Given the description of an element on the screen output the (x, y) to click on. 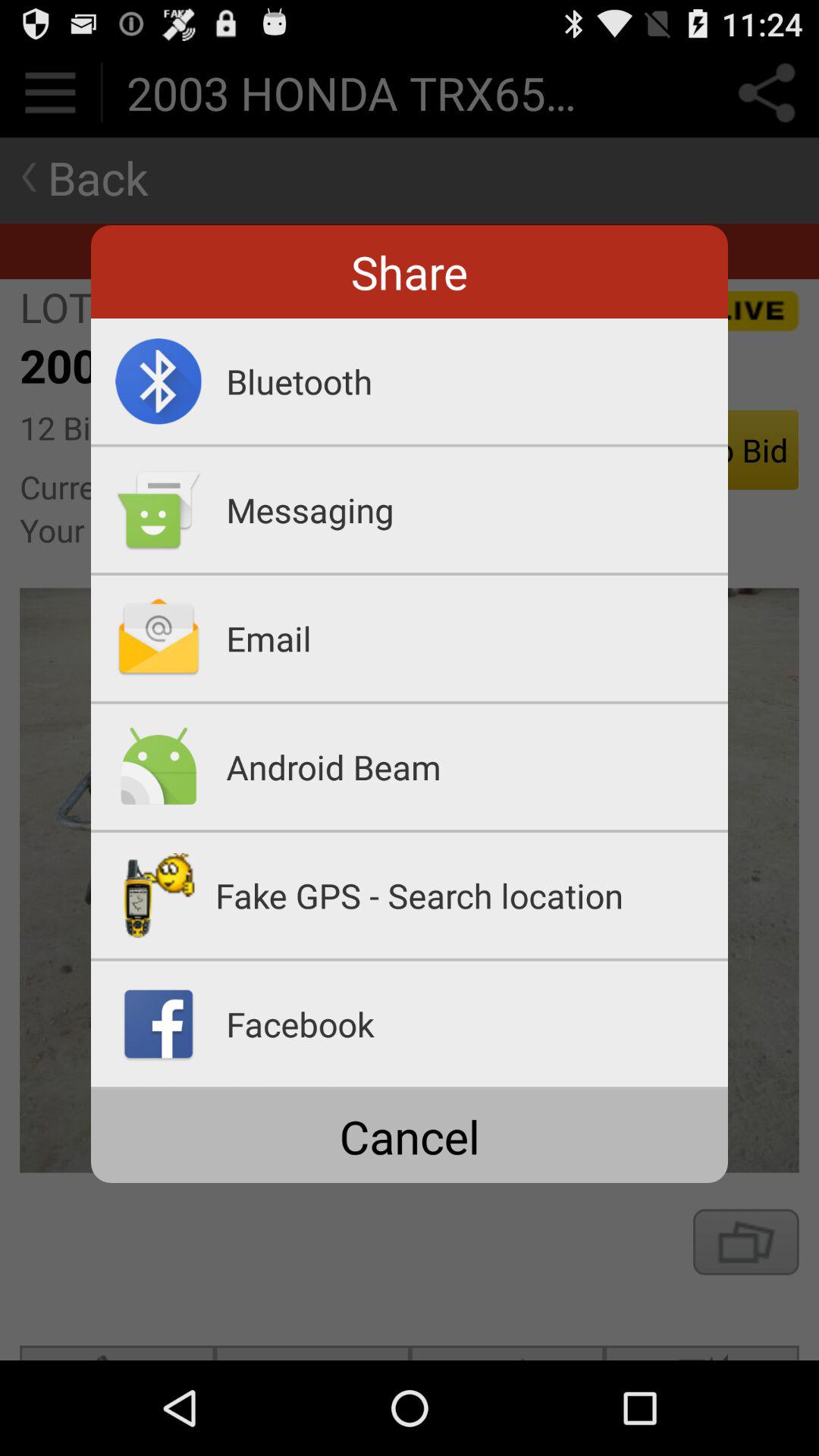
press the icon above cancel (409, 1087)
